Given the description of an element on the screen output the (x, y) to click on. 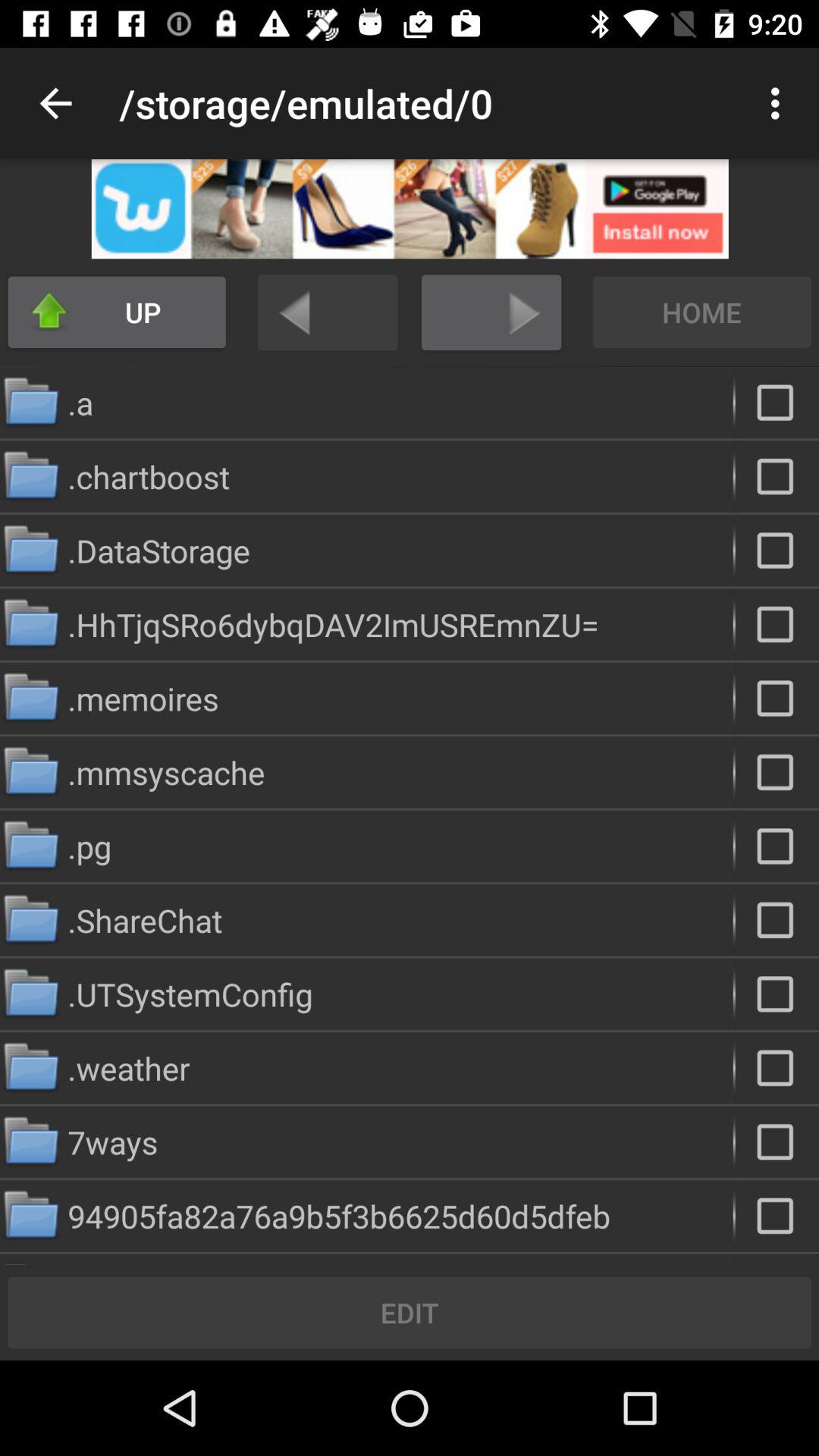
click to select folder (777, 846)
